Given the description of an element on the screen output the (x, y) to click on. 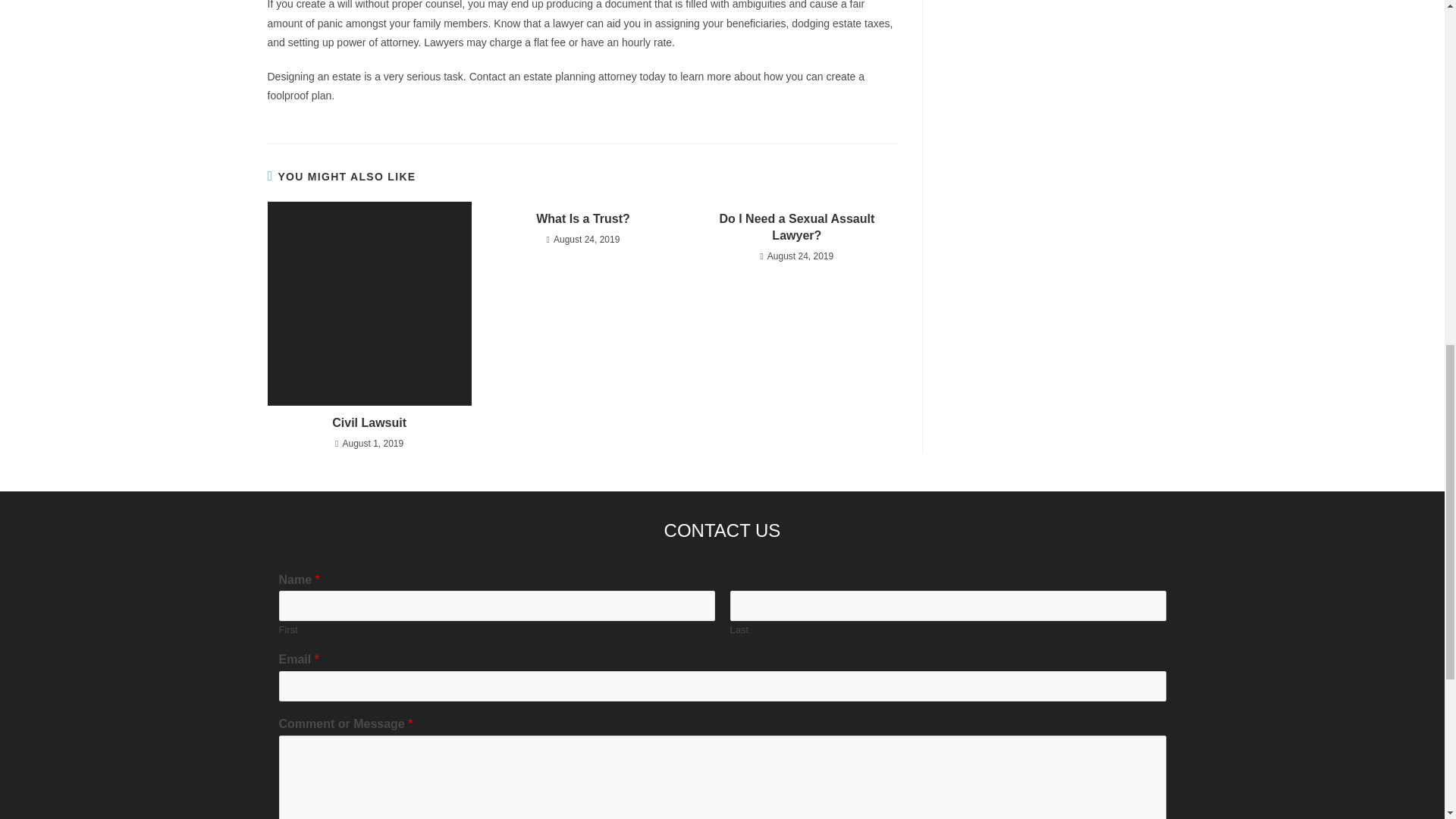
What Is a Trust? (582, 218)
Do I Need a Sexual Assault Lawyer? (796, 227)
Civil Lawsuit (368, 422)
